Given the description of an element on the screen output the (x, y) to click on. 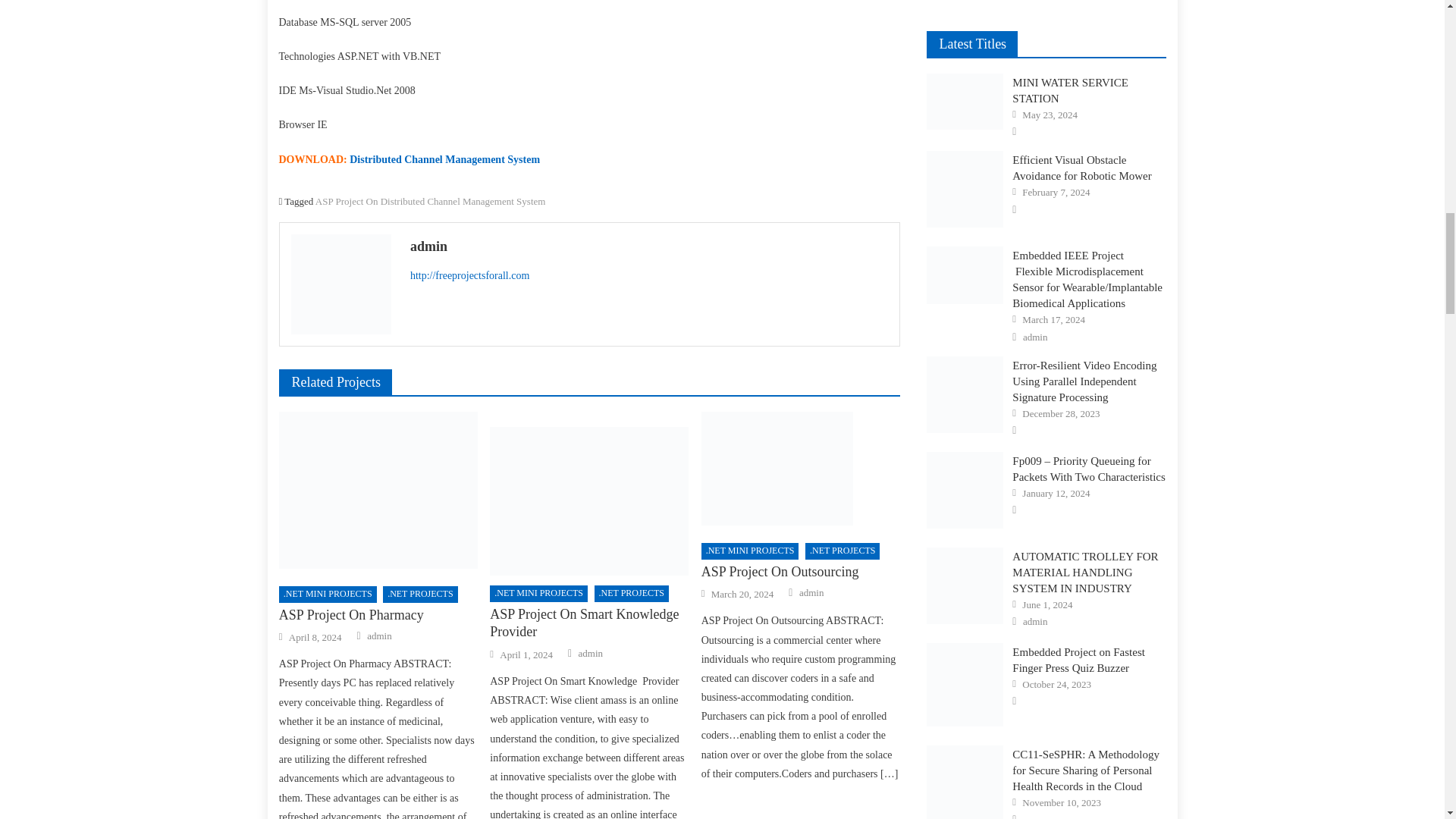
ASP Project On Outsourcing (800, 468)
MINI WATER SERVICE STATION (964, 100)
ASP Project On Pharmacy (378, 489)
Efficient Visual Obstacle Avoidance for Robotic Mower (964, 188)
